Given the description of an element on the screen output the (x, y) to click on. 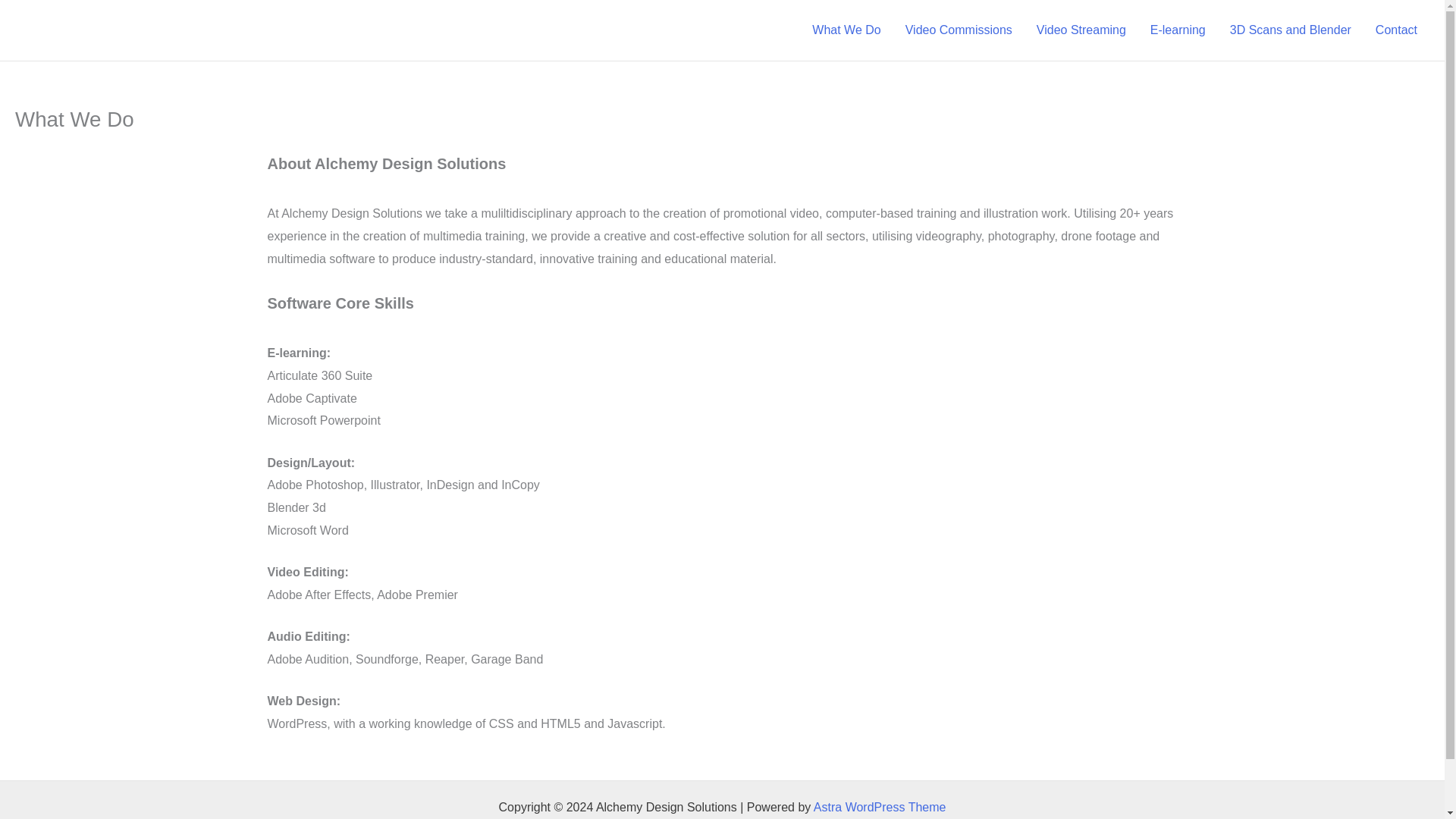
Alchemy Design Solutions (178, 29)
Video Commissions (959, 30)
What We Do (845, 30)
Contact (1395, 30)
Astra WordPress Theme (879, 807)
Video Streaming (1081, 30)
3D Scans and Blender (1289, 30)
E-learning (1177, 30)
